Given the description of an element on the screen output the (x, y) to click on. 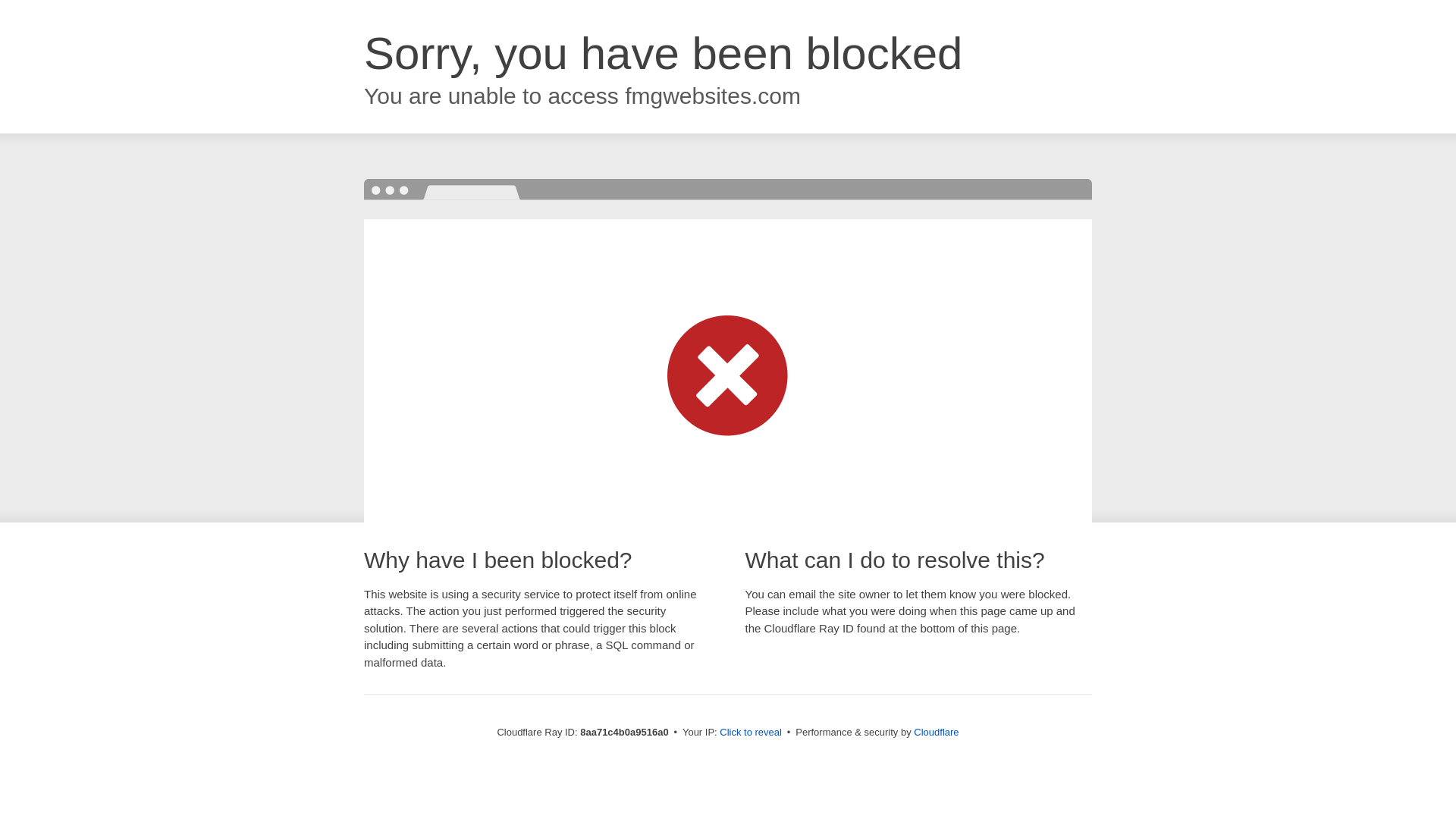
Click to reveal (750, 732)
Cloudflare (936, 731)
